Given the description of an element on the screen output the (x, y) to click on. 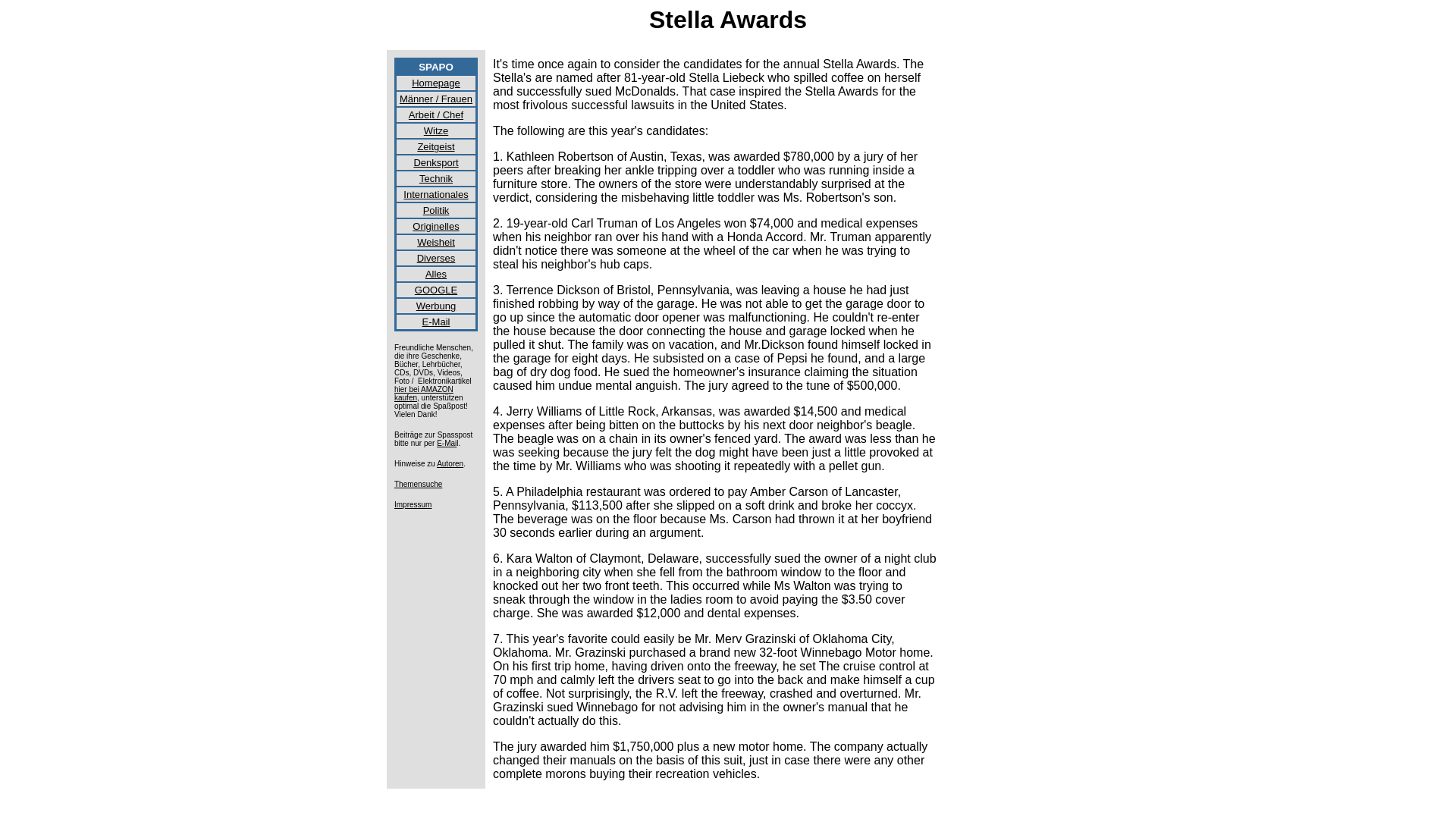
Diverses (435, 256)
Internationales (435, 193)
Technik (435, 177)
GOOGLE (435, 288)
Witze (435, 129)
E-Mail (435, 320)
Homepage (436, 82)
Impressum (412, 504)
Politik (436, 209)
Zeitgeist (435, 145)
